Given the description of an element on the screen output the (x, y) to click on. 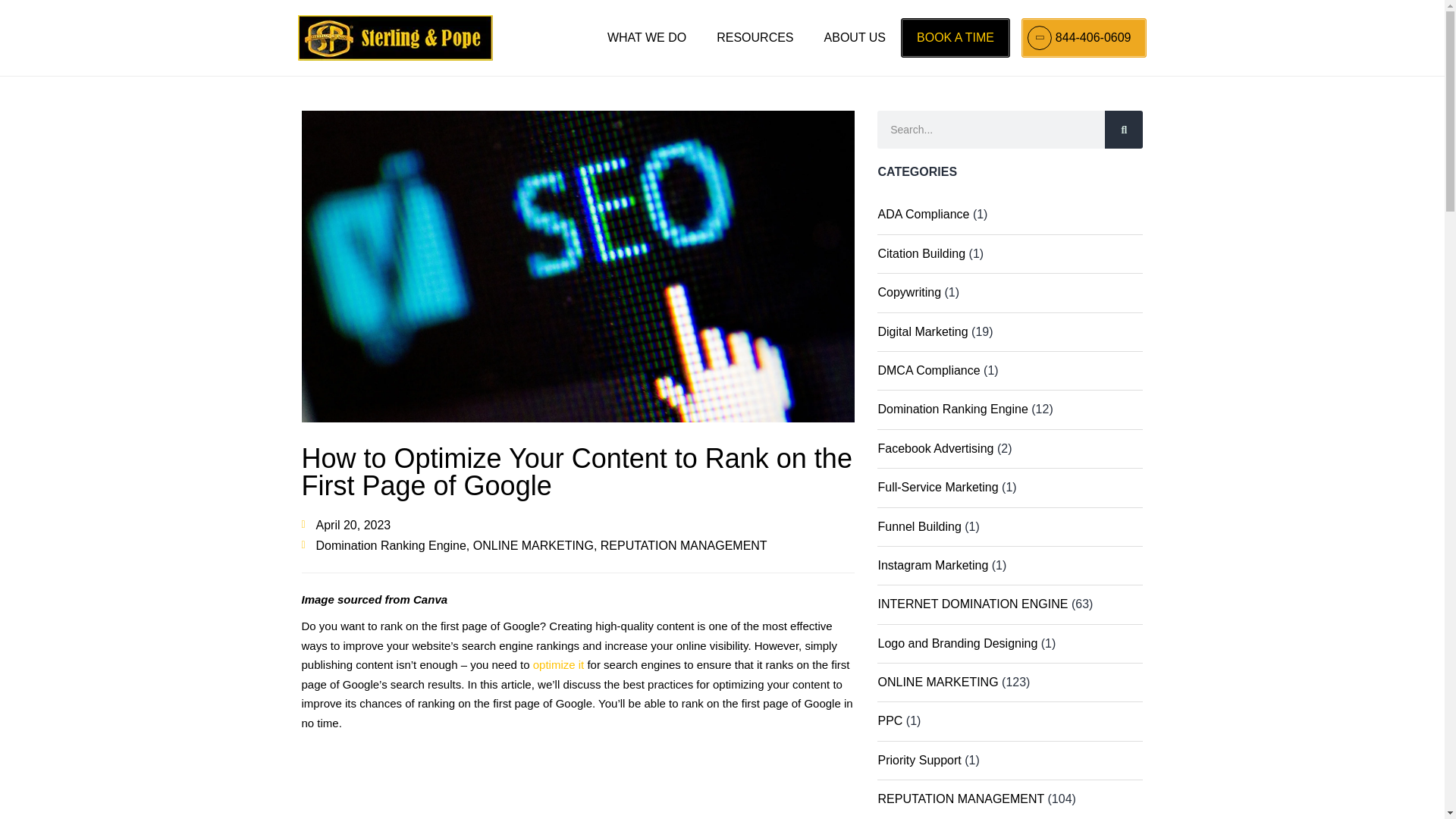
Instagram Marketing (932, 564)
Copywriting (908, 291)
DMCA Compliance (928, 369)
Logo and Branding Designing (956, 643)
REPUTATION MANAGEMENT (683, 545)
Citation Building (921, 253)
844-406-0609 (1083, 37)
ONLINE MARKETING (937, 681)
ADA Compliance (923, 214)
April 20, 2023 (346, 525)
Domination Ranking Engine (390, 545)
optimize it (558, 664)
PPC (889, 720)
ONLINE MARKETING (533, 545)
REPUTATION MANAGEMENT (960, 798)
